Given the description of an element on the screen output the (x, y) to click on. 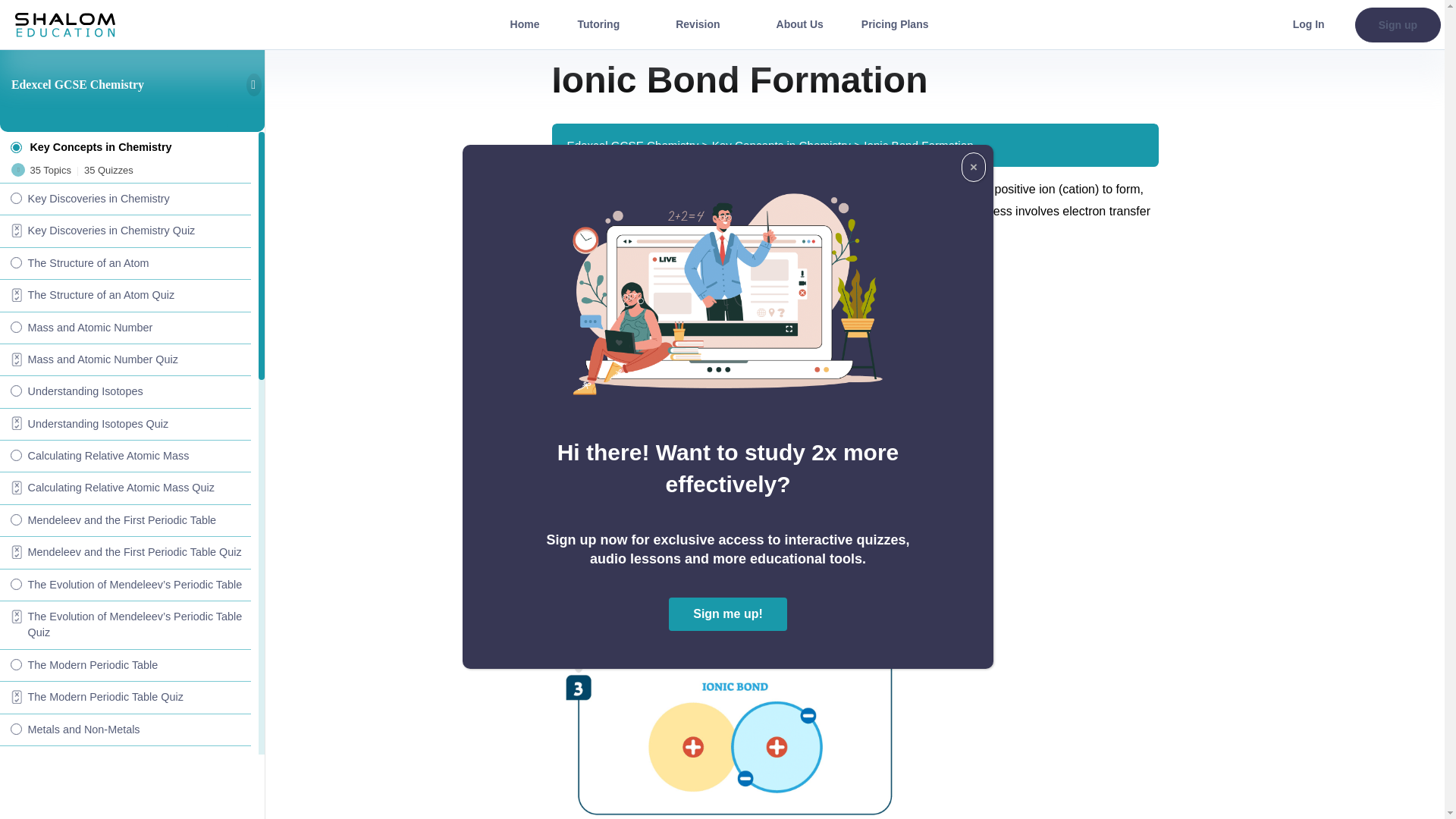
Metals and Non-Metals Quiz (125, 761)
Mass and Atomic Number Quiz (125, 359)
Edexcel GCSE Chemistry (77, 83)
The Modern Periodic Table Quiz (125, 696)
Key Concepts in Chemistry (125, 144)
Key Discoveries in Chemistry Quiz (125, 230)
Mendeleev and the First Periodic Table Quiz (125, 552)
The Modern Periodic Table (125, 664)
Key Discoveries in Chemistry (125, 198)
Group 1496 (64, 24)
The Structure of an Atom (125, 263)
Mass and Atomic Number (125, 327)
Predicting Electron Configurations Quiz (125, 814)
The Structure of an Atom Quiz (125, 295)
Calculating Relative Atomic Mass (125, 455)
